Given the description of an element on the screen output the (x, y) to click on. 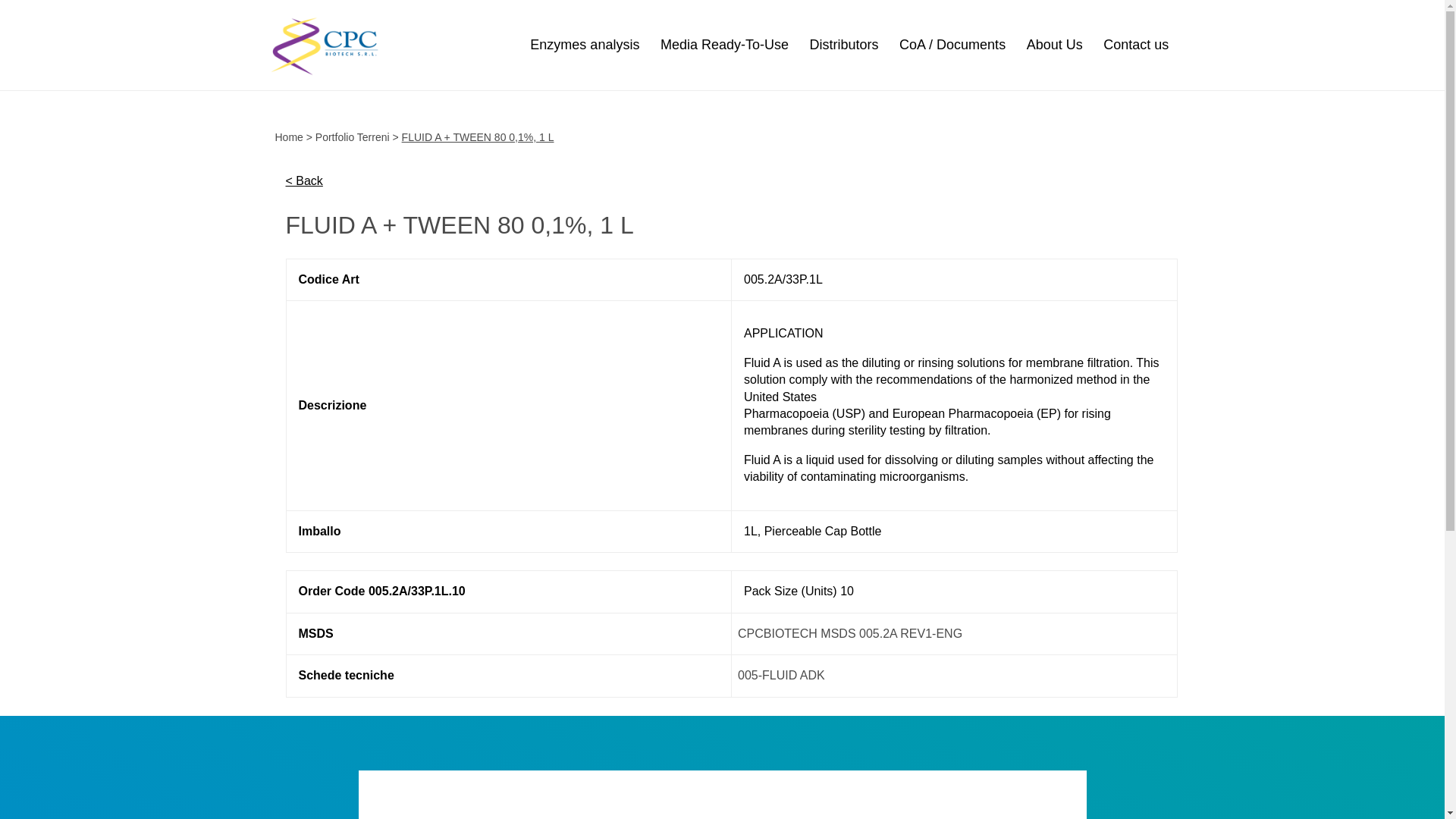
Distributors (843, 43)
Enzymes analysis (584, 43)
About Us (1053, 43)
005-FLUID ADK (781, 675)
Home (288, 137)
Discover our Linkedin page (722, 794)
CPCBIOTECH MSDS 005.2A REV1-ENG (850, 633)
Portfolio Terreni (352, 137)
Contact us (1135, 43)
Media Ready-To-Use (724, 43)
